Given the description of an element on the screen output the (x, y) to click on. 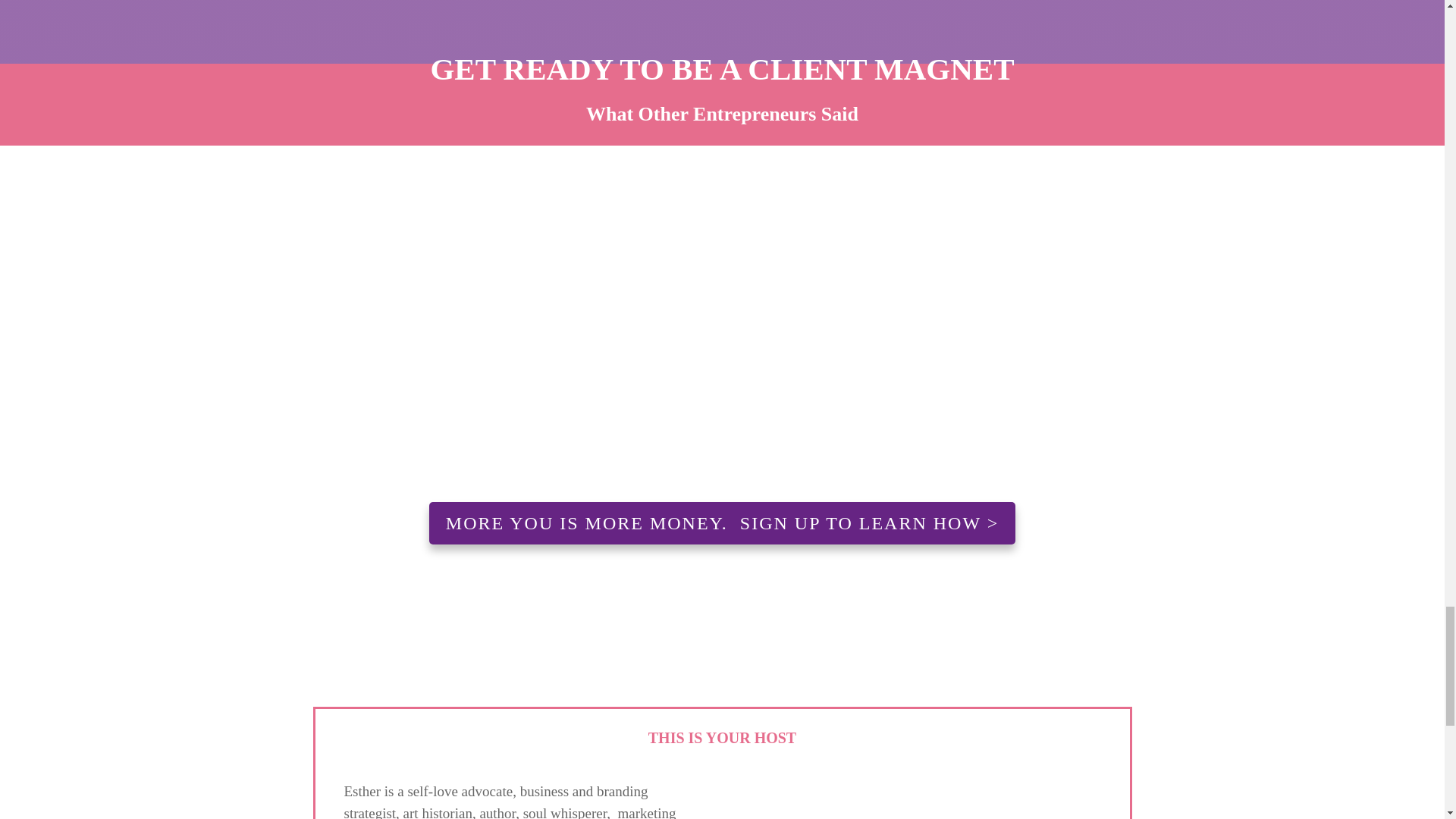
be the expert 2 (545, 316)
be the expert 4 (191, 316)
be the expert 1 (1253, 316)
Personal branding queen esther de charon (929, 807)
be the expert 3 (899, 316)
